Given the description of an element on the screen output the (x, y) to click on. 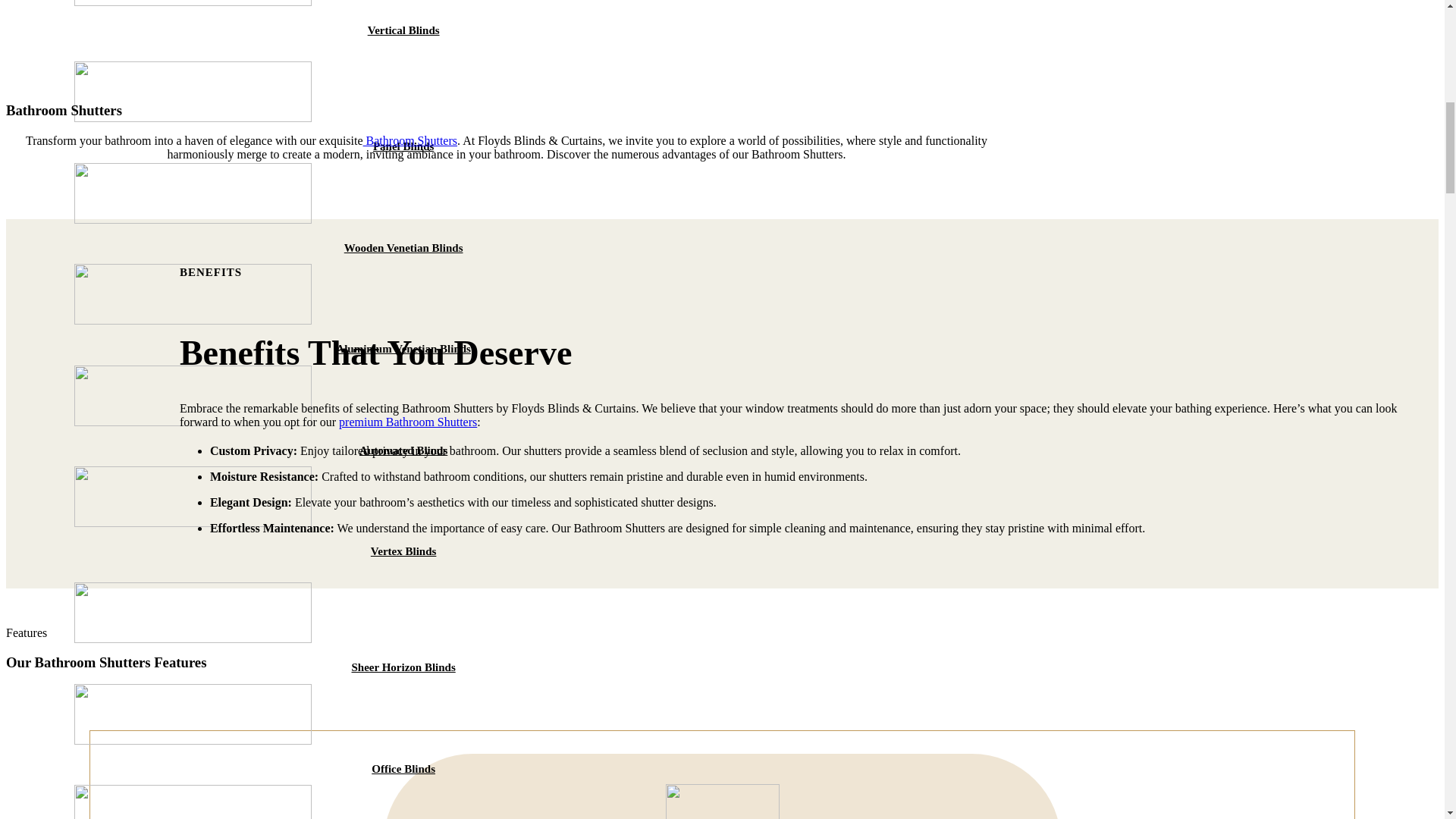
Panel Blinds (402, 146)
Wooden Venetian Blinds (403, 247)
Vertex Blinds (403, 551)
Vertical Blinds (403, 30)
Aluminium Venetian Blinds (403, 348)
Automated Blinds (402, 450)
Sheer Horizon Blinds (403, 666)
